Given the description of an element on the screen output the (x, y) to click on. 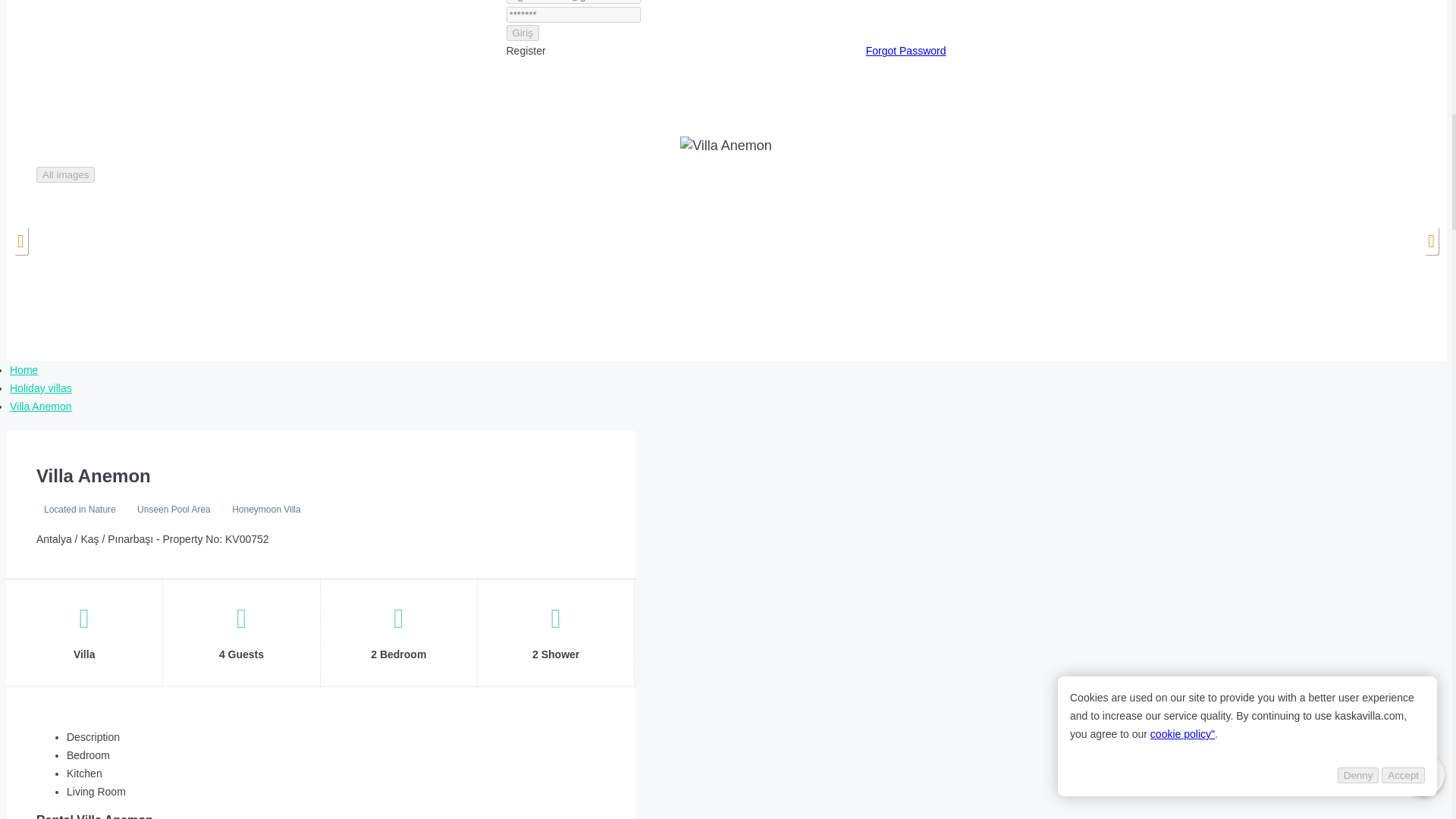
Description (92, 736)
Living Room (95, 791)
Holiday villas (40, 387)
Kitchen (83, 773)
All images (65, 174)
Register (526, 50)
Home (23, 369)
Forgot Password (906, 50)
Villa Anemon (40, 406)
Bedroom (88, 755)
